Given the description of an element on the screen output the (x, y) to click on. 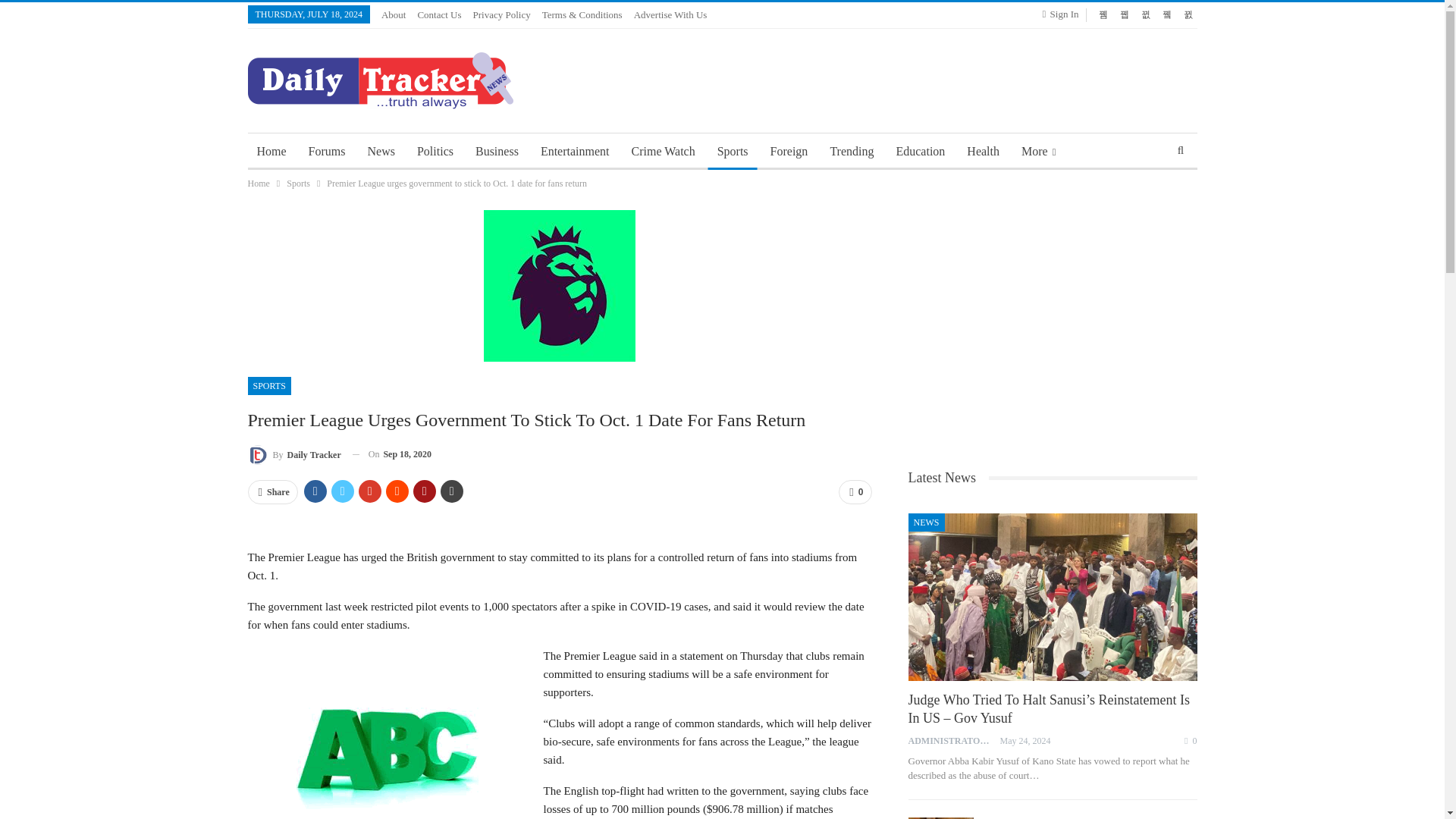
Trending (851, 151)
More (1037, 151)
Health (983, 151)
Browse Author Articles (293, 454)
Forums (327, 151)
Sports (298, 183)
Education (919, 151)
0 (854, 491)
Privacy Policy (502, 14)
Sign In (1063, 13)
Sports (732, 151)
News (381, 151)
By Daily Tracker (293, 454)
SPORTS (268, 385)
About (393, 14)
